Given the description of an element on the screen output the (x, y) to click on. 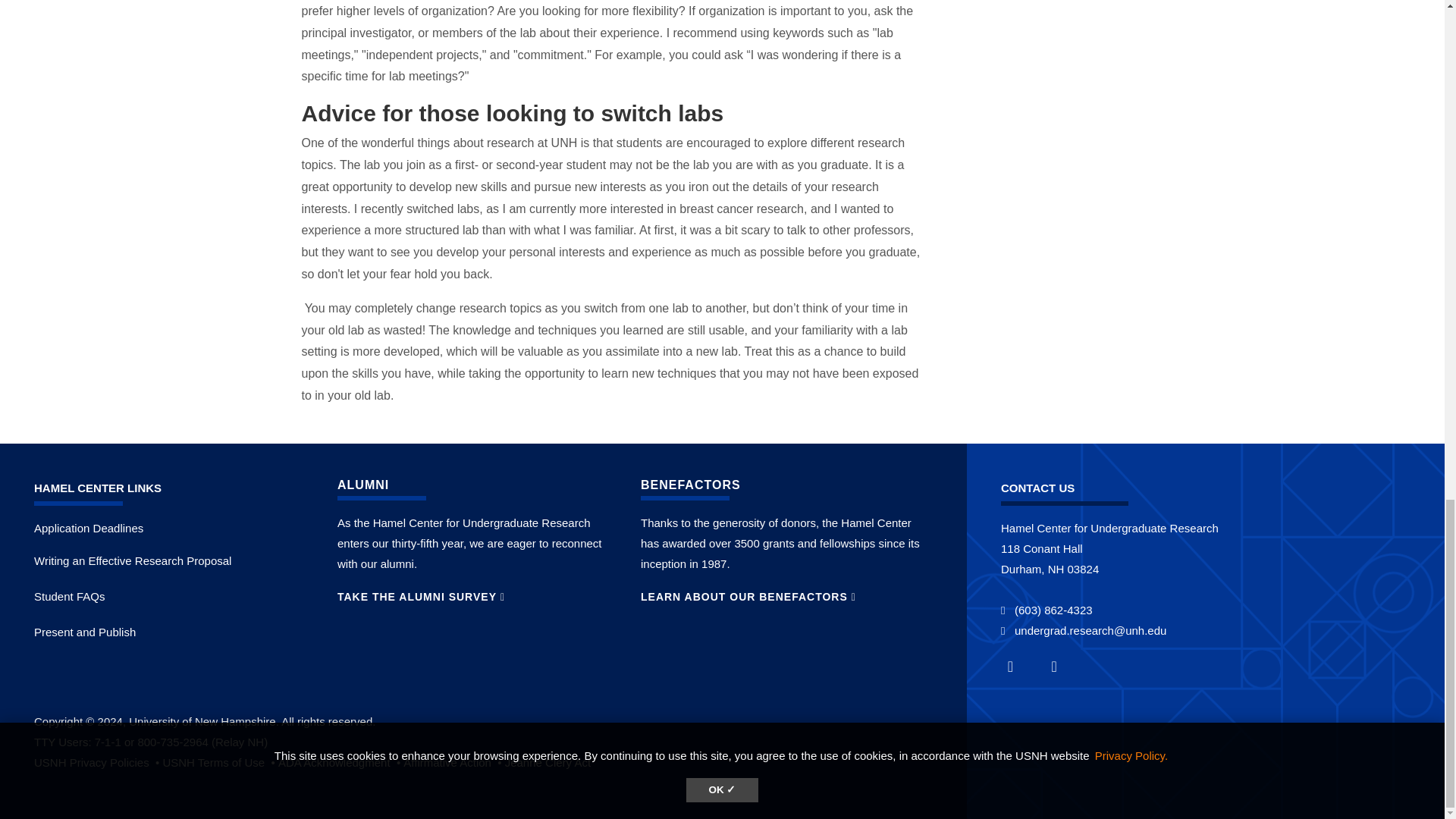
Learn (97, 762)
Learn (219, 762)
Writing an Effective Research Proposal (132, 560)
Student FAQs (68, 595)
Present and Publish (84, 631)
Learn more about ADA acknowledgement (340, 762)
Alumni survey (421, 596)
To Hamel Center Facebook (1018, 666)
Benefactors (748, 596)
Learn (548, 762)
Learn (453, 762)
Application Deadlines (87, 527)
